Given the description of an element on the screen output the (x, y) to click on. 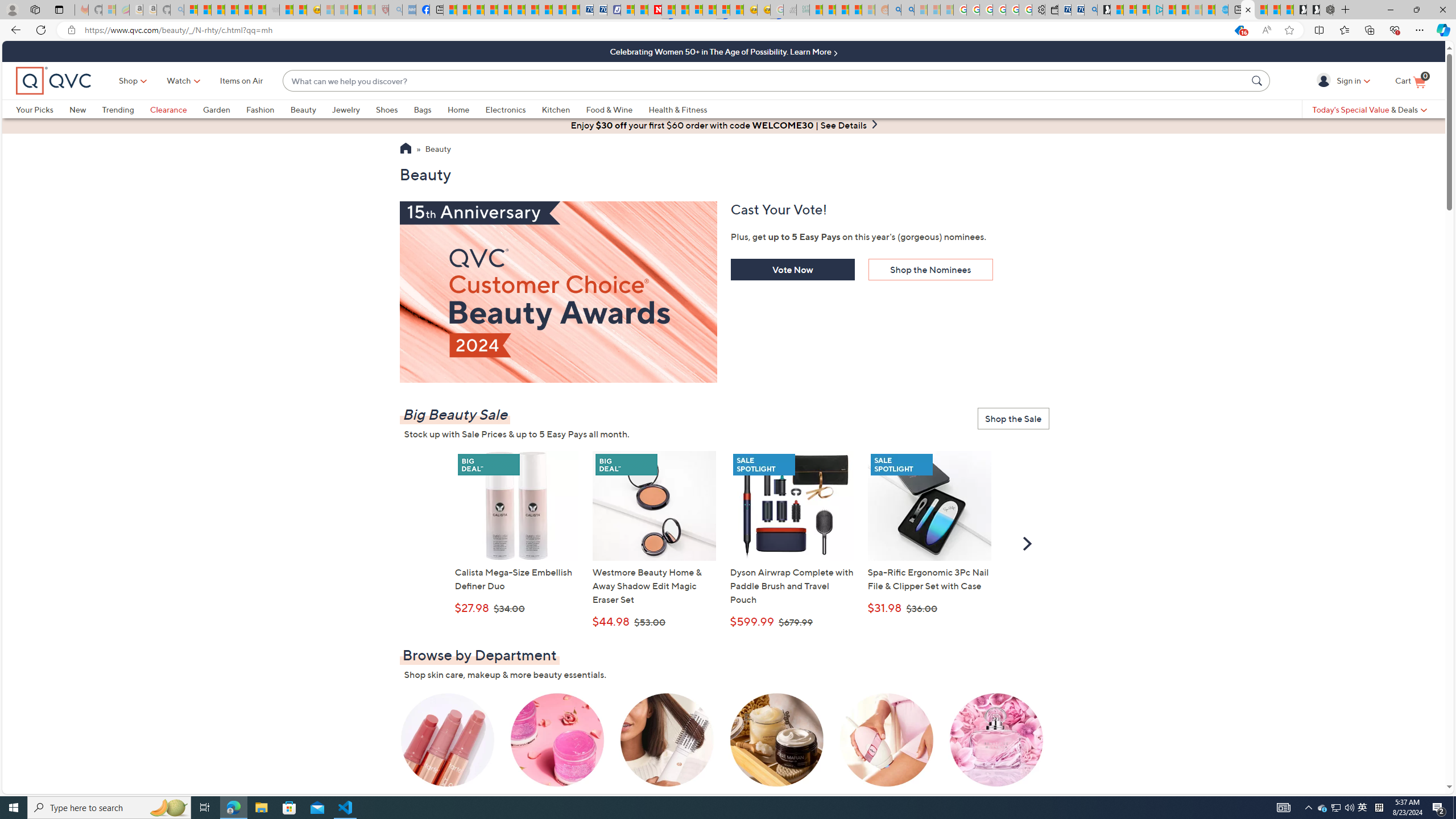
Combat Siege - Sleeping (271, 9)
Beauty Tools (886, 748)
Home | Sky Blue Bikes - Sky Blue Bikes (1221, 9)
 Calista Mega-Size Embellish Definer Duo - A376050 (516, 505)
Items on Air (241, 80)
Return to QVC Homepage (405, 149)
list of asthma inhalers uk - Search - Sleeping (395, 9)
Fragrance (996, 748)
Health & Fitness (680, 109)
Fashion (268, 109)
